Given the description of an element on the screen output the (x, y) to click on. 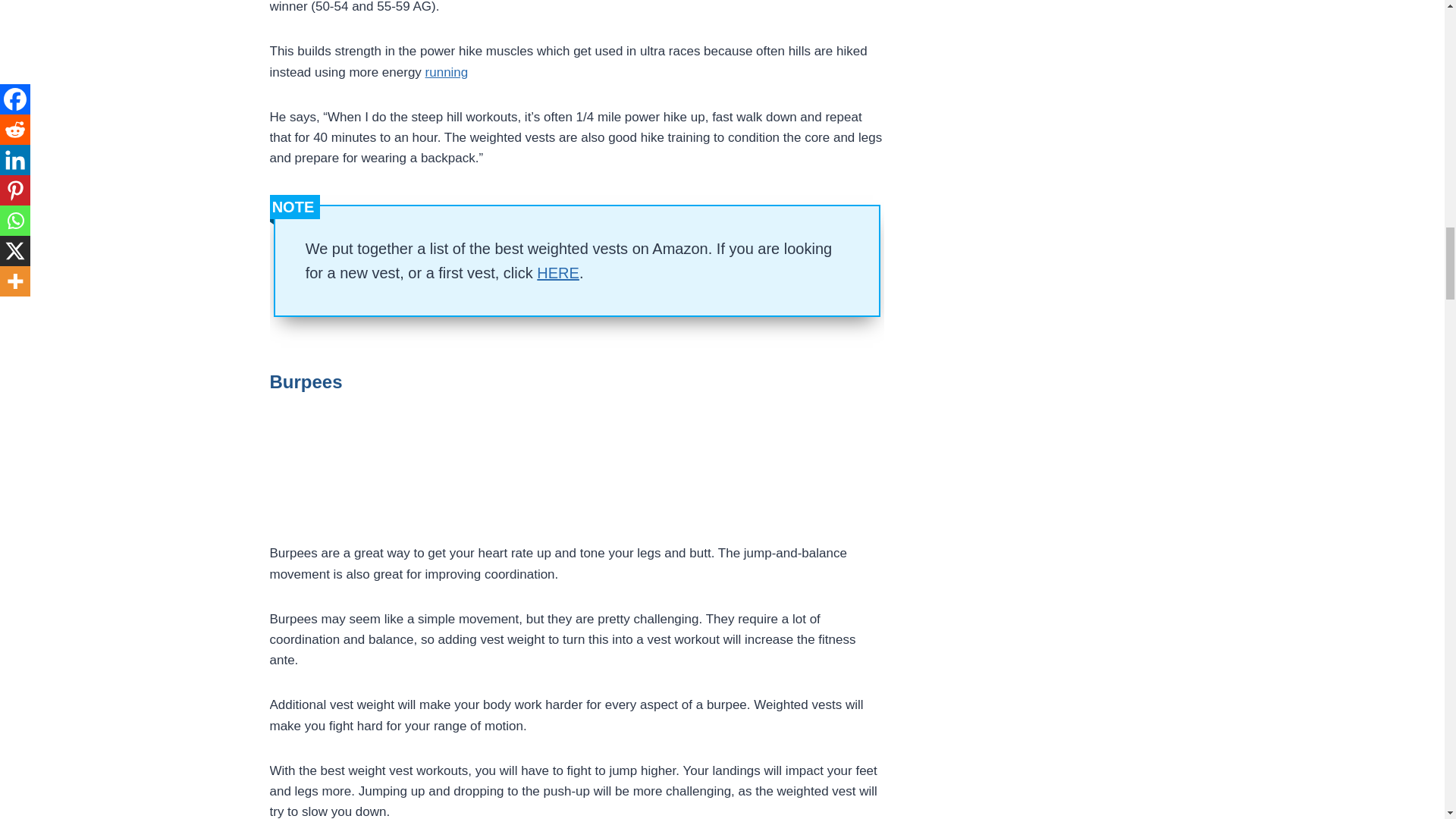
HERE (558, 272)
running (446, 72)
running (446, 72)
